Given the description of an element on the screen output the (x, y) to click on. 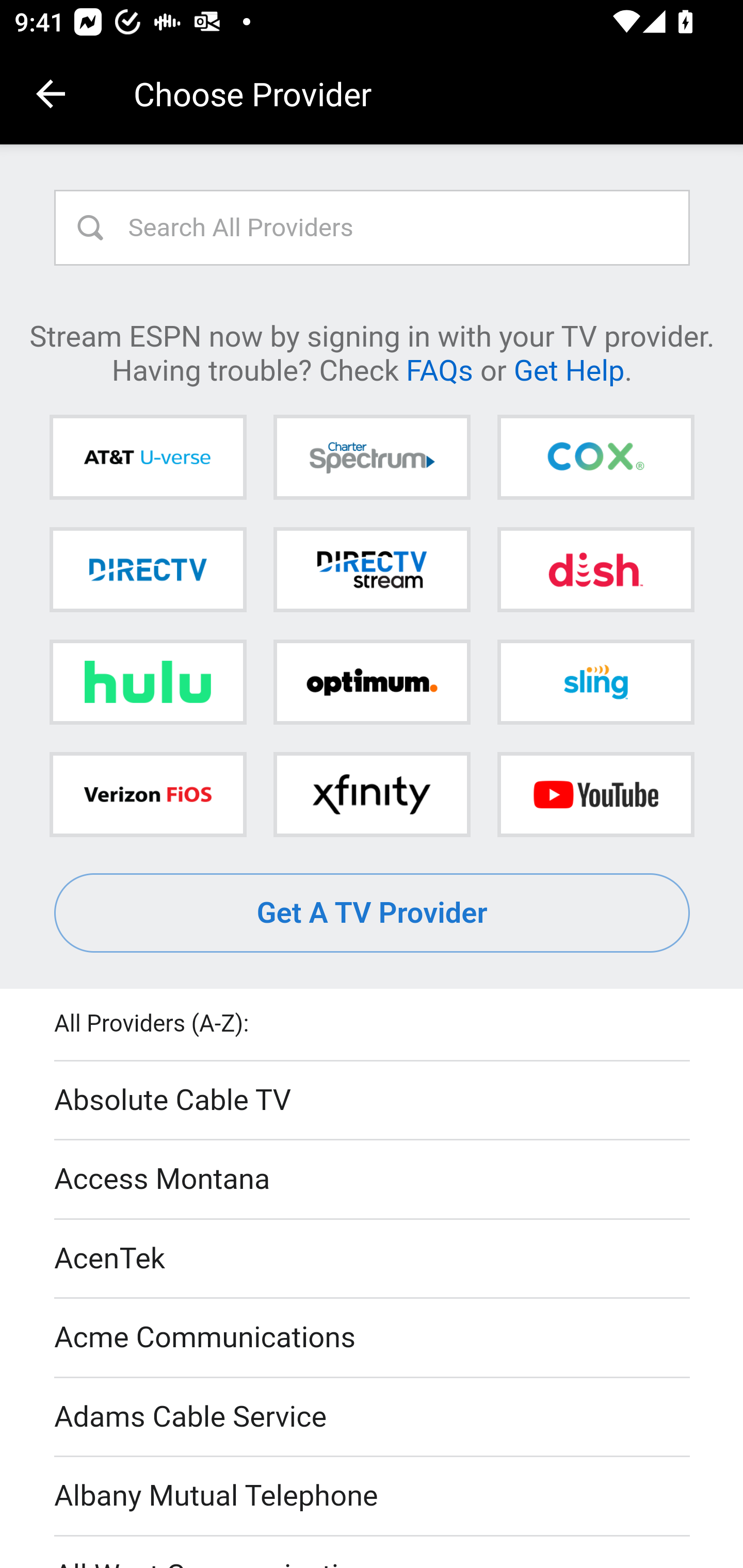
Navigate up (50, 93)
FAQs (438, 369)
Get Help (569, 369)
AT&T U-verse (147, 457)
Charter Spectrum (371, 457)
Cox (595, 457)
DIRECTV (147, 568)
DIRECTV STREAM (371, 568)
DISH (595, 568)
Hulu (147, 681)
Optimum (371, 681)
Sling TV (595, 681)
Verizon FiOS (147, 793)
Xfinity (371, 793)
YouTube TV (595, 793)
Get A TV Provider (372, 912)
Absolute Cable TV (372, 1100)
Access Montana (372, 1178)
AcenTek (372, 1258)
Acme Communications (372, 1338)
Adams Cable Service (372, 1417)
Albany Mutual Telephone (372, 1497)
